Given the description of an element on the screen output the (x, y) to click on. 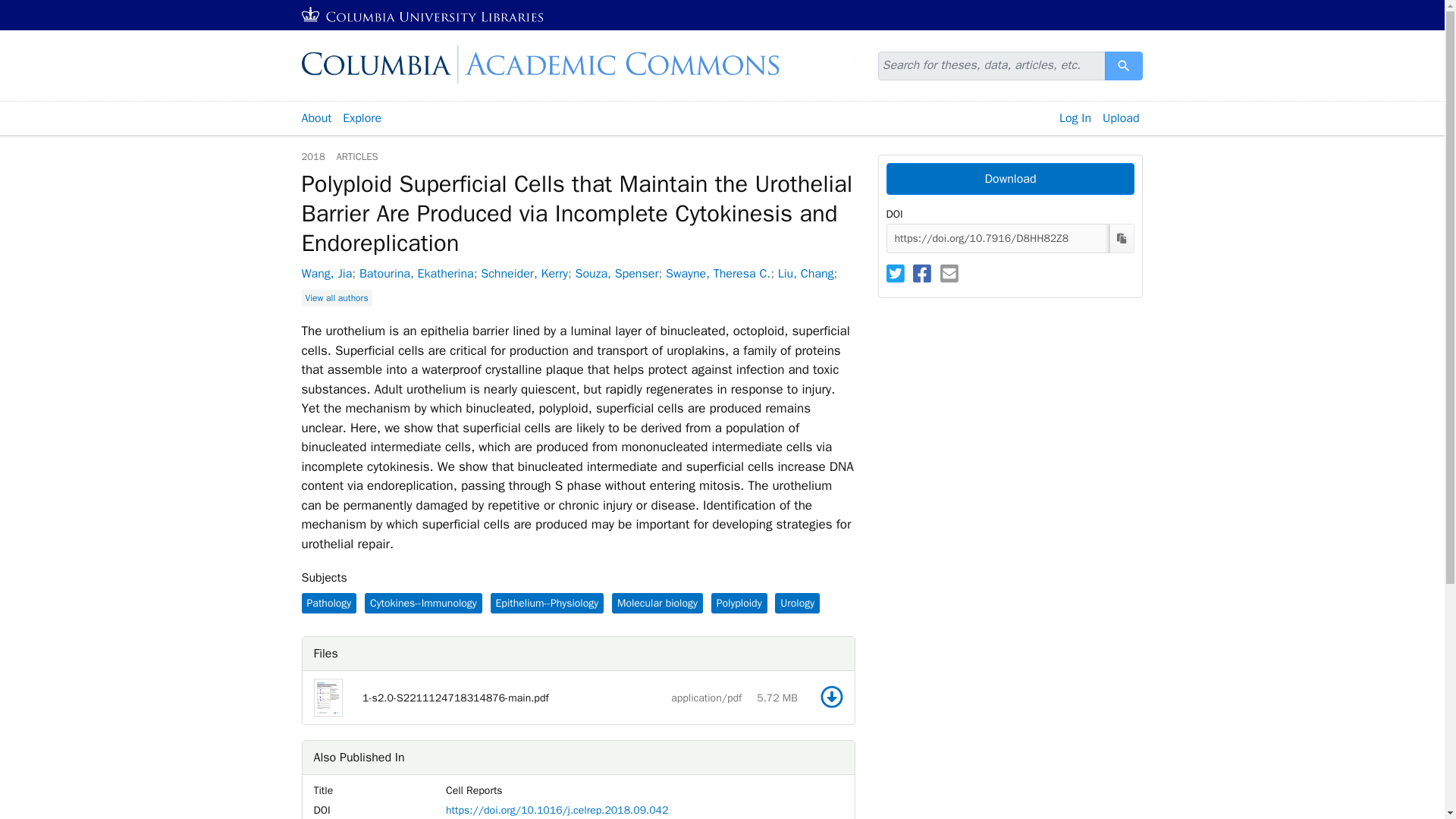
Download file (832, 696)
Wiessner, Gregory (623, 294)
Epithelium--Physiology (546, 602)
Upload (1120, 118)
Columbia University Libraries (422, 14)
Swayne, Theresa C. (717, 273)
Mysorekar, Indira U. (437, 314)
Polyploidy (739, 602)
Dan, Hanbin (534, 294)
Skip to search (36, 9)
Wang, Jia (326, 273)
Batourina, Ekatherina (416, 273)
Download file (832, 696)
Academic Commons (578, 64)
Search (1123, 65)
